Given the description of an element on the screen output the (x, y) to click on. 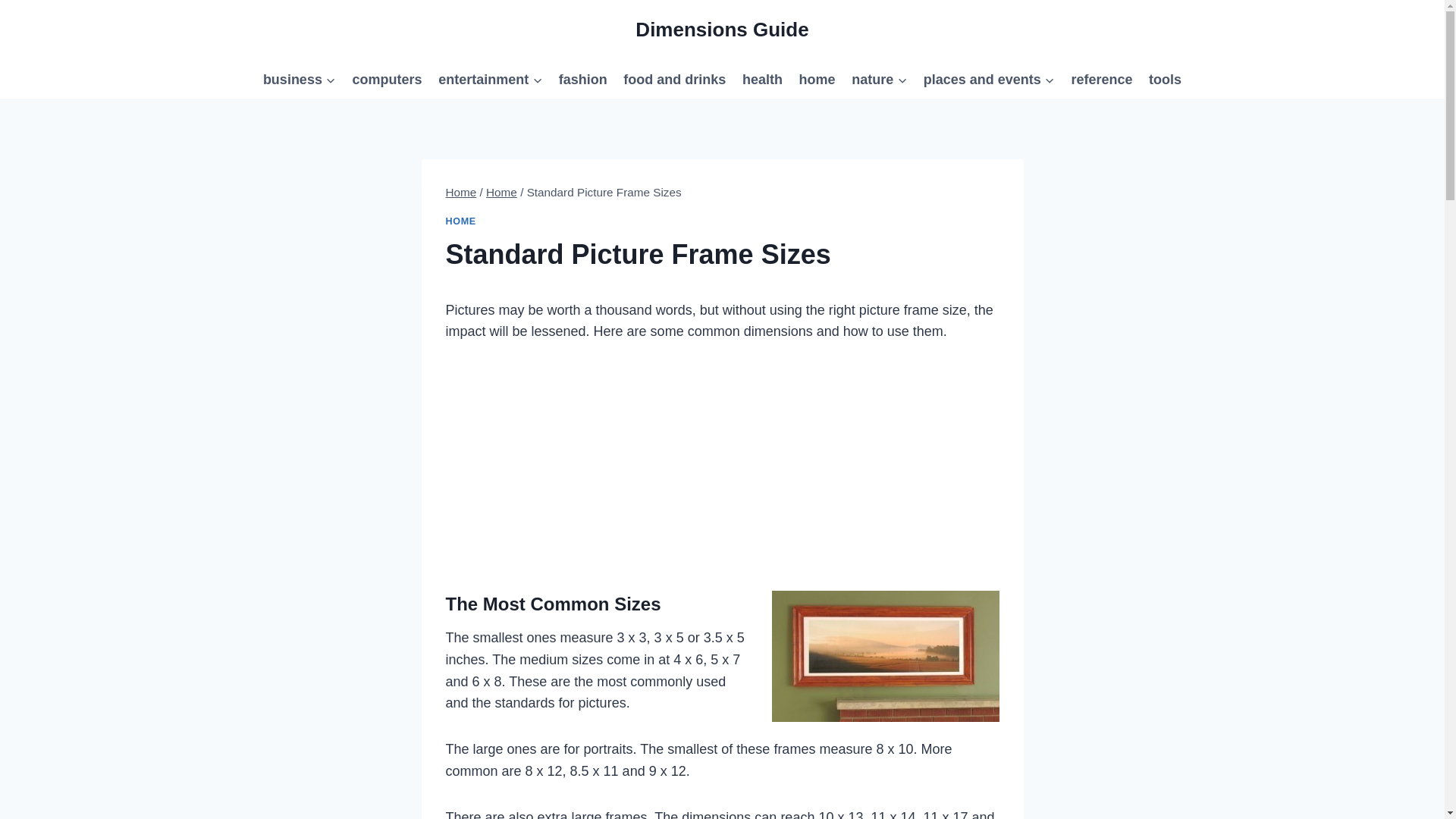
business (298, 79)
nature (879, 79)
Picture Frame (884, 655)
reference (1101, 79)
home (817, 79)
computers (386, 79)
Home (501, 192)
food and drinks (675, 79)
Home (461, 192)
Advertisement (721, 461)
places and events (988, 79)
fashion (582, 79)
Dimensions Guide (721, 29)
HOME (460, 221)
entertainment (489, 79)
